Given the description of an element on the screen output the (x, y) to click on. 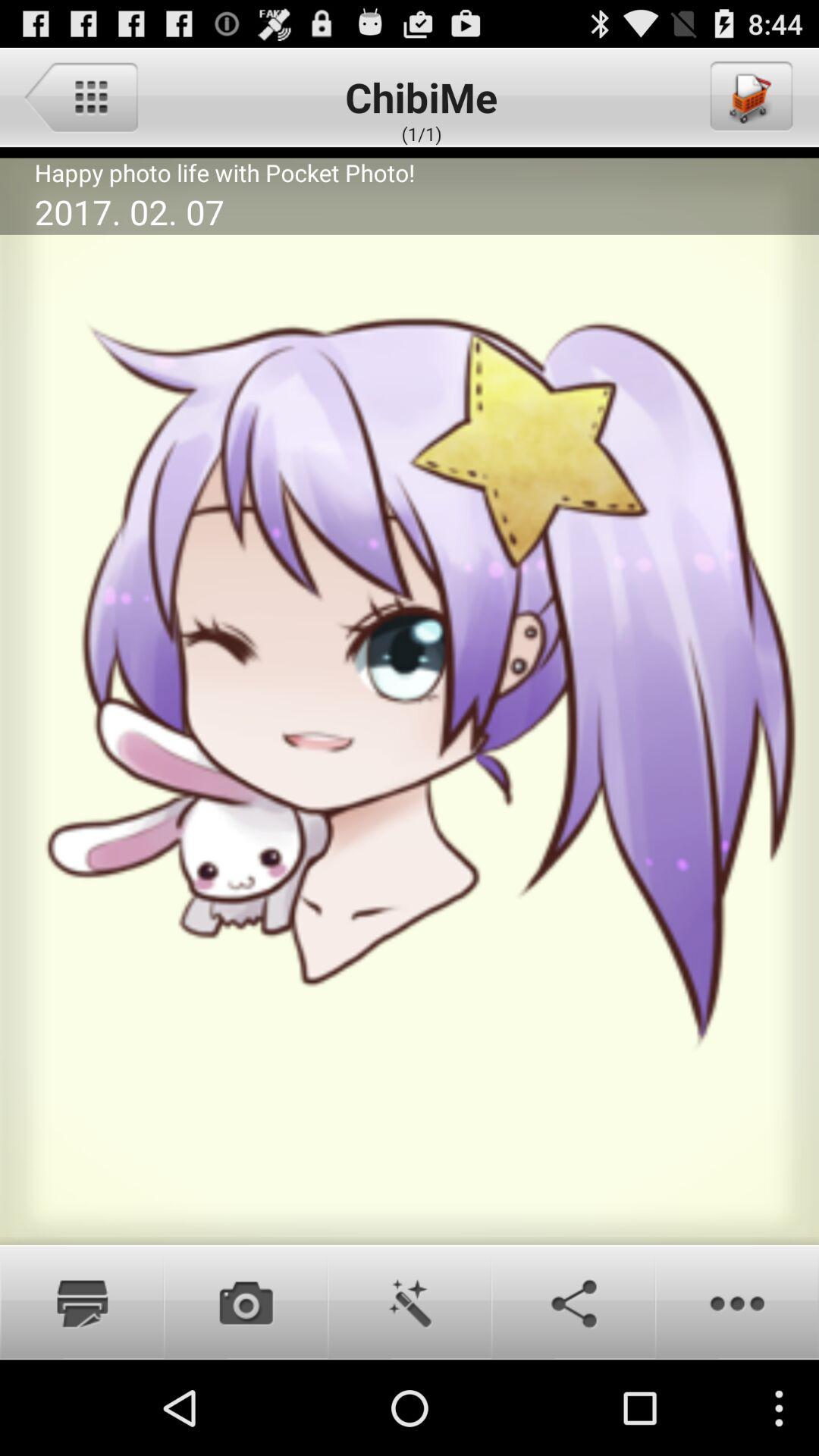
press icon to the right of chibime item (749, 96)
